Given the description of an element on the screen output the (x, y) to click on. 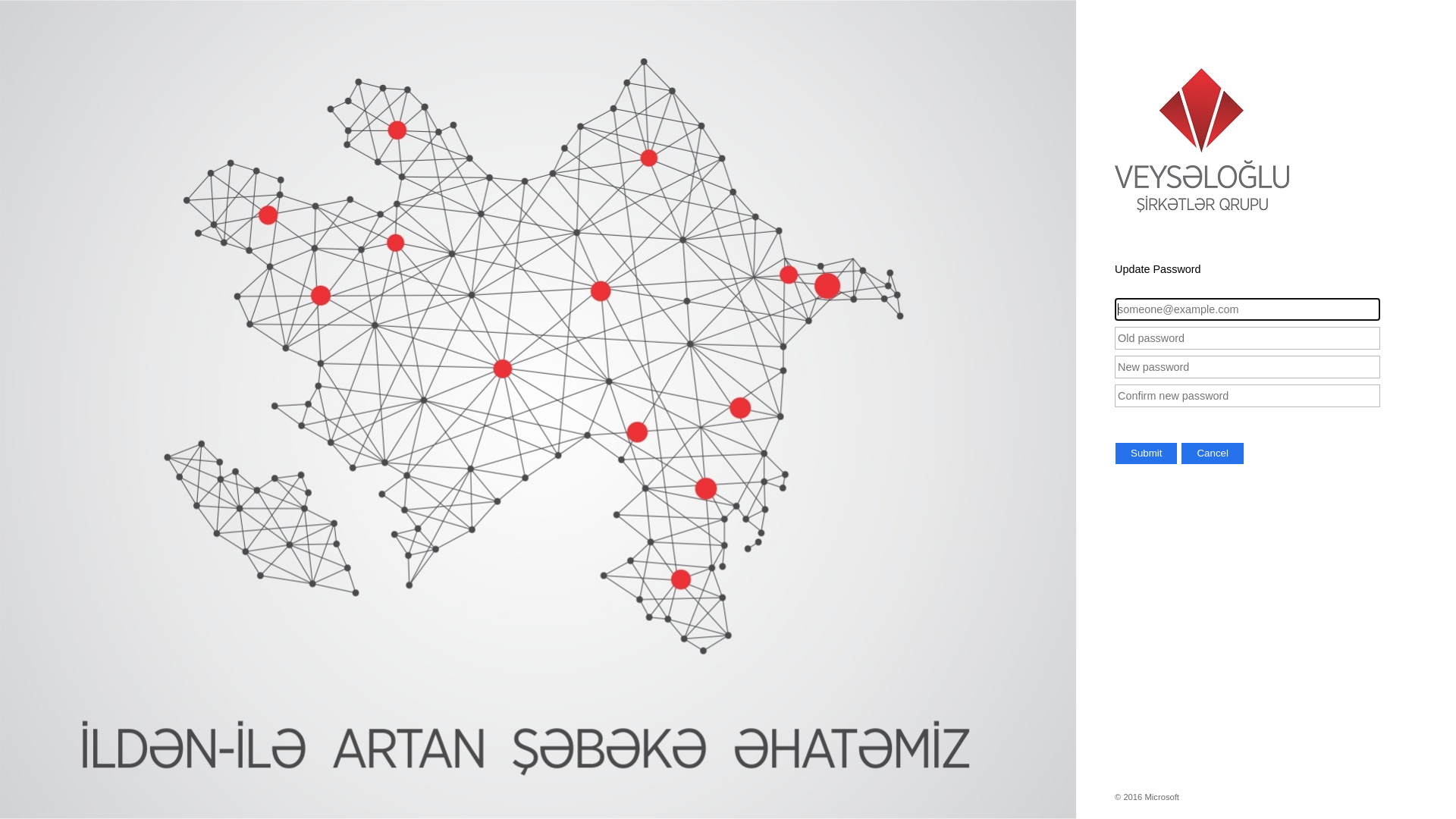
Cancel Element type: text (1212, 453)
Submit Element type: text (1145, 453)
